Given the description of an element on the screen output the (x, y) to click on. 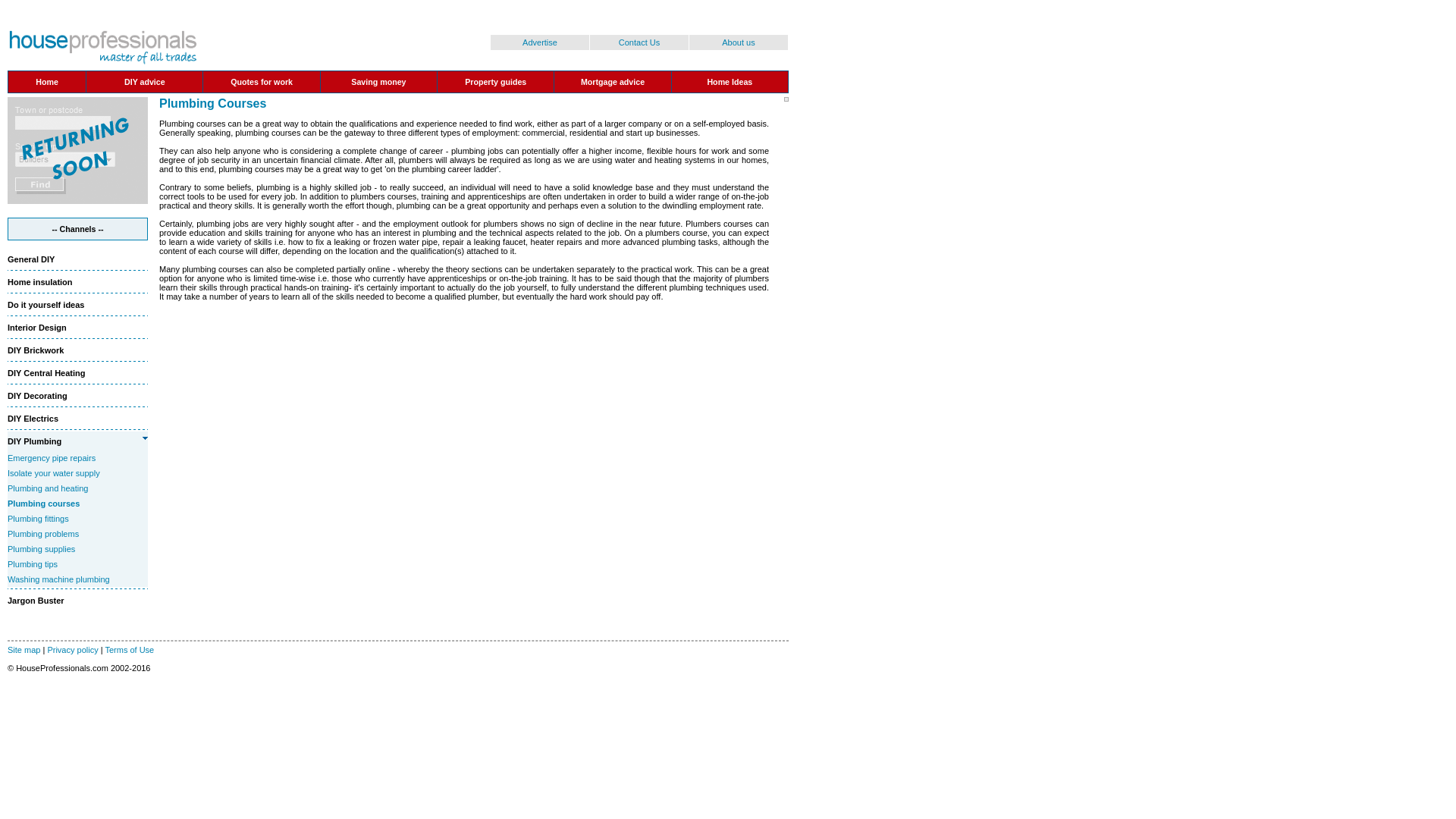
Site map (23, 649)
Emergency pipe repairs (51, 457)
Plumbing problems (42, 533)
Plumbing tips (32, 563)
Privacy policy (71, 649)
Property guides (494, 81)
DIY advice (144, 81)
Washing machine plumbing (58, 578)
Mortgage advice (612, 81)
Plumbing and heating (47, 488)
